Given the description of an element on the screen output the (x, y) to click on. 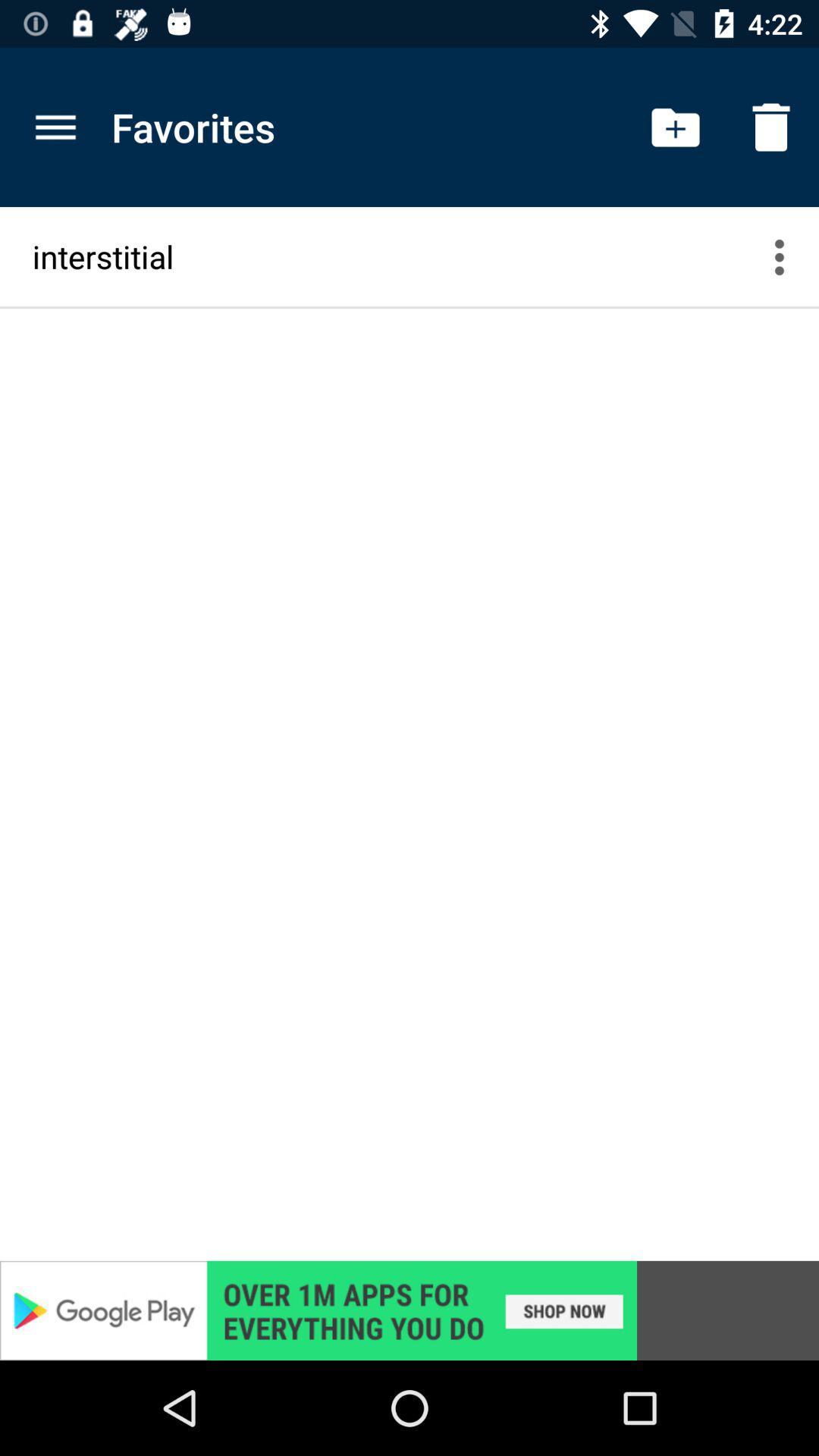
ellipse (789, 256)
